Given the description of an element on the screen output the (x, y) to click on. 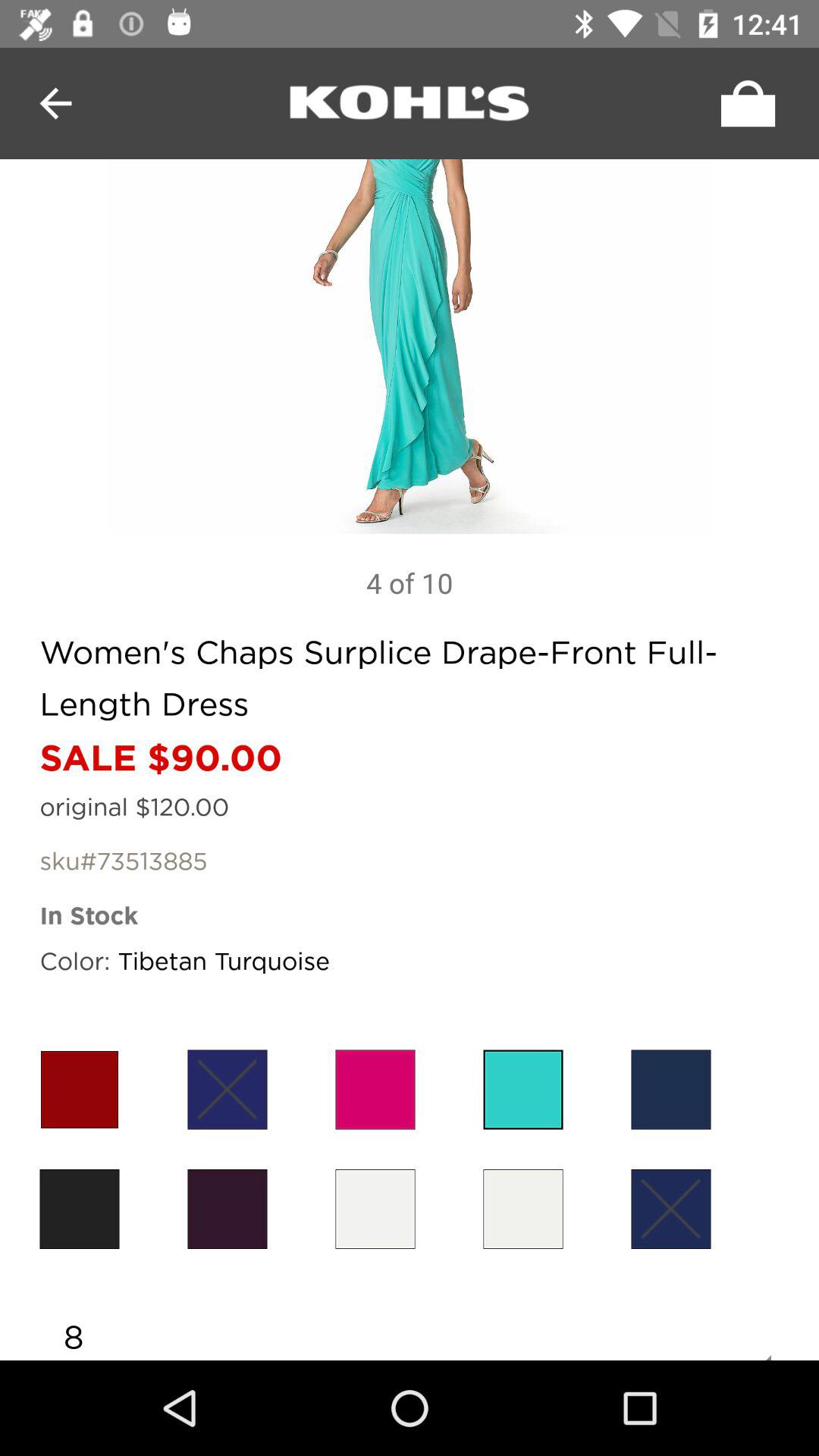
select black color (227, 1208)
